Given the description of an element on the screen output the (x, y) to click on. 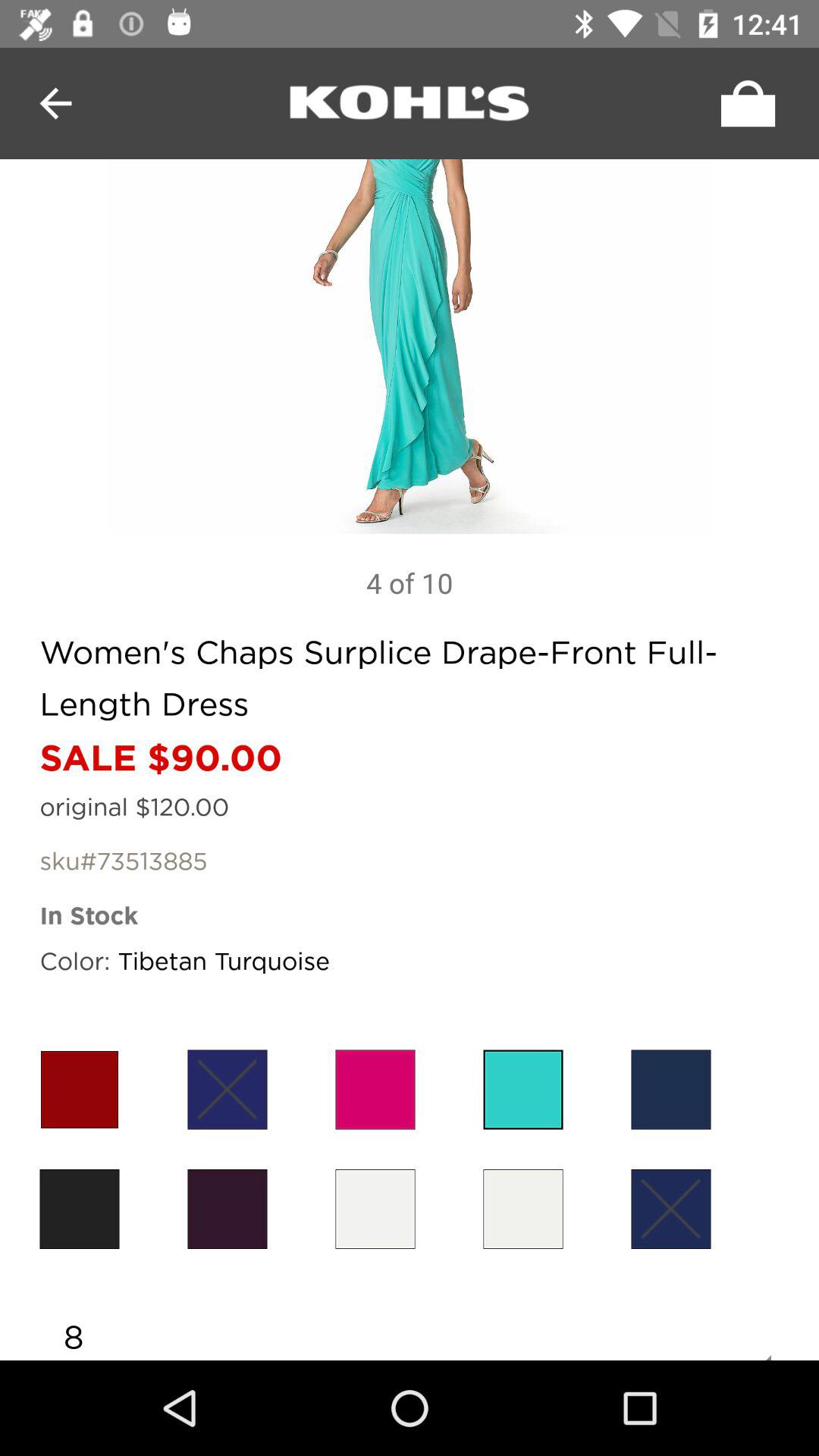
select black color (227, 1208)
